Given the description of an element on the screen output the (x, y) to click on. 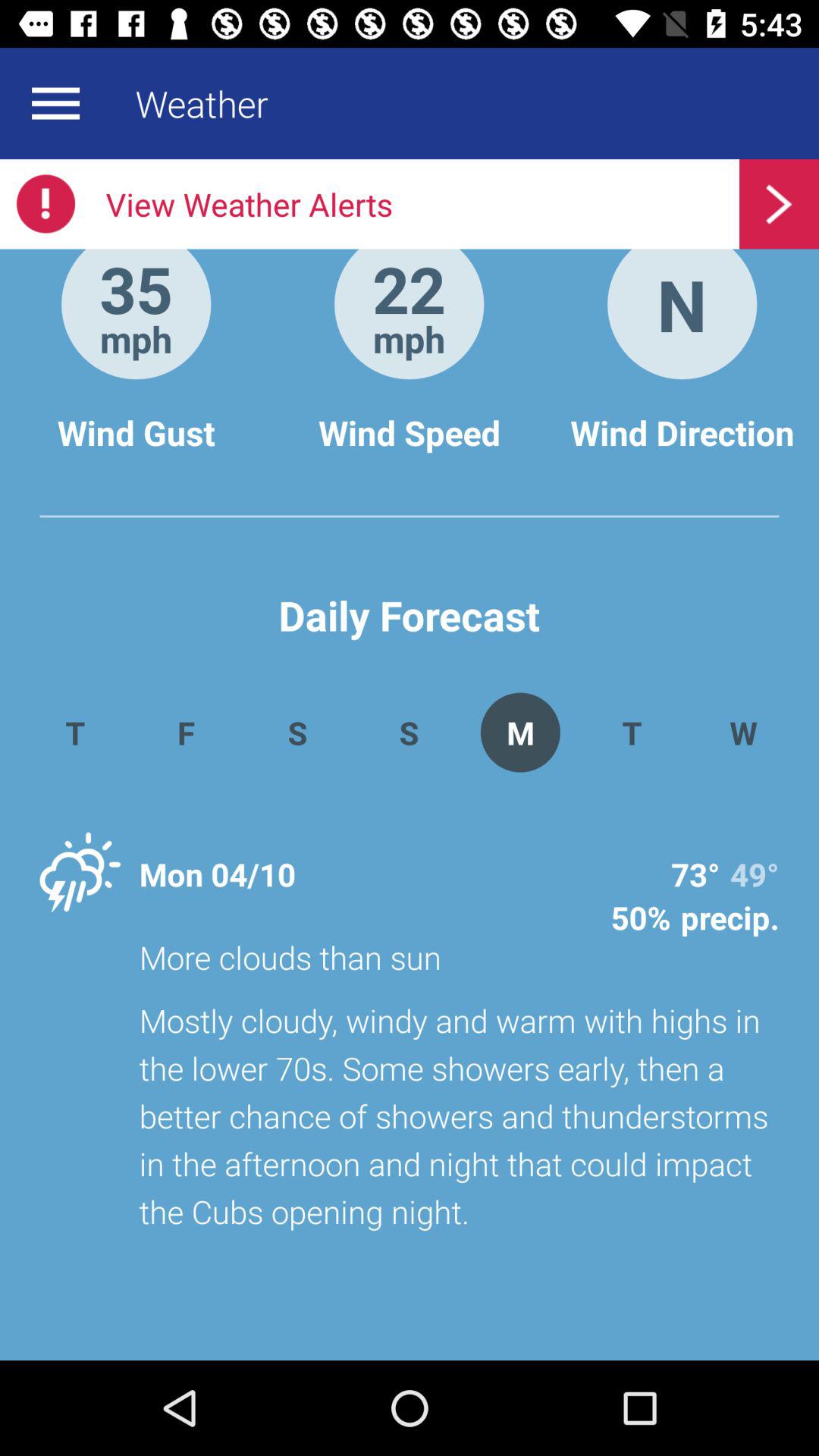
launch the app next to the s app (185, 732)
